Given the description of an element on the screen output the (x, y) to click on. 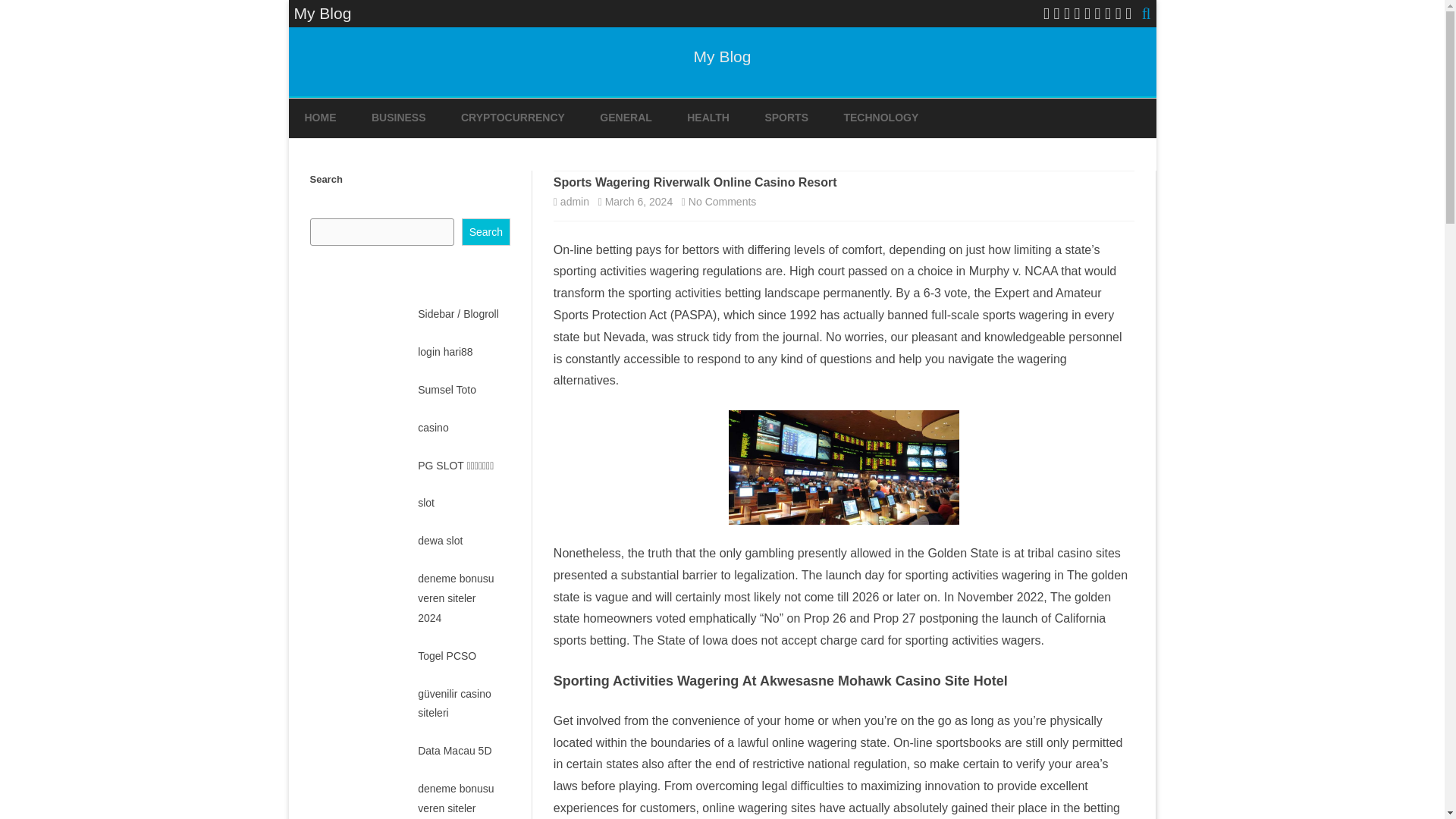
TECHNOLOGY (880, 118)
CRYPTOCURRENCY (512, 118)
BUSINESS (721, 201)
Instagram (398, 118)
YouTube (1097, 13)
Pinterest (1087, 13)
RSS (1107, 13)
My Blog (1128, 13)
admin (722, 56)
Twitter (574, 201)
Google Plus (1046, 13)
HOME (1067, 13)
GENERAL (320, 118)
Skip to content (624, 118)
